Given the description of an element on the screen output the (x, y) to click on. 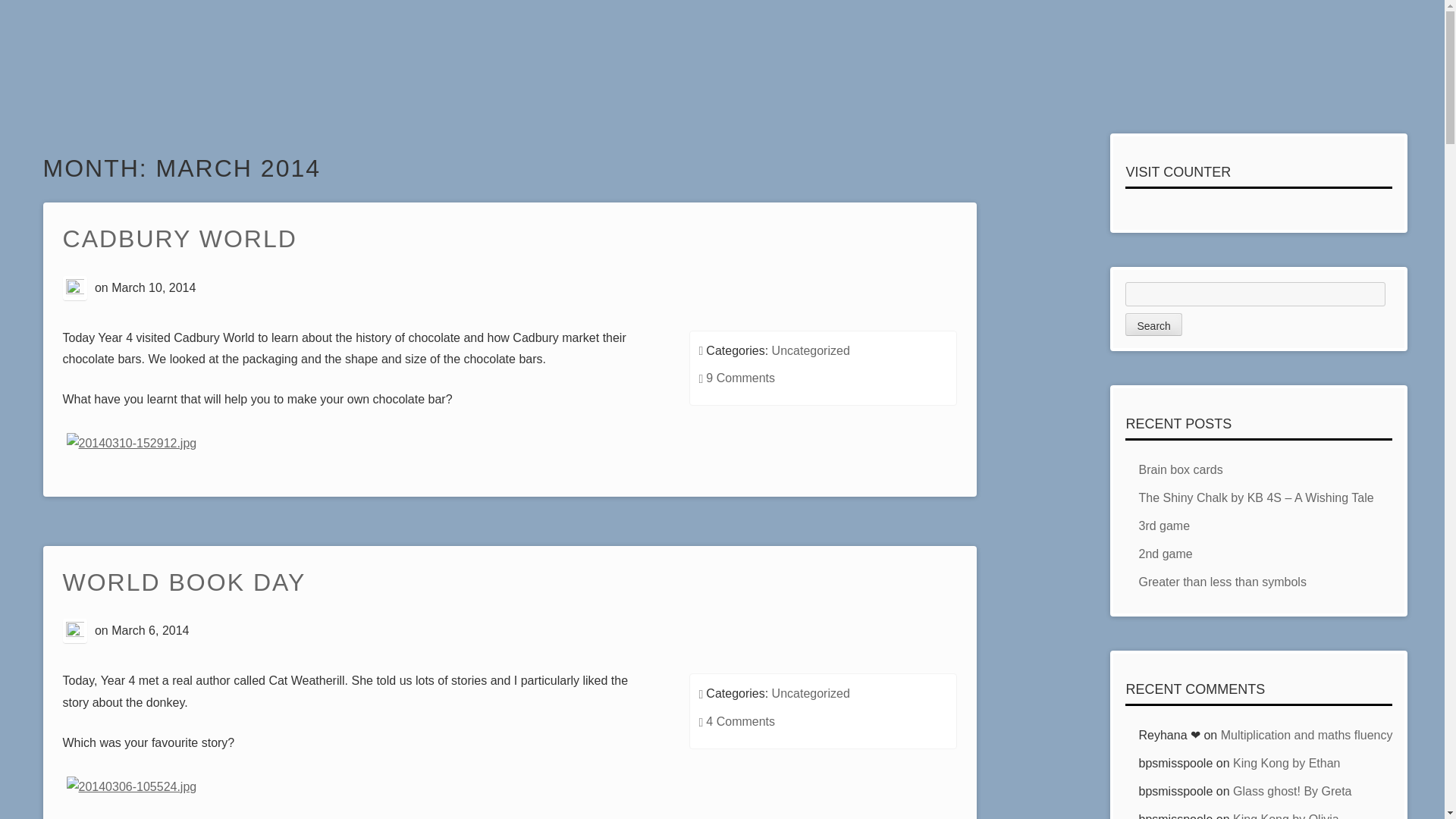
Greater than less than symbols (1222, 581)
Brain box cards (1180, 469)
Multiplication and maths fluency (1307, 735)
Uncategorized (810, 693)
Uncategorized (810, 350)
Glass ghost! By Greta (1292, 790)
Search (1152, 323)
4 Comments (740, 721)
King Kong by Ethan (1286, 762)
CADBURY WORLD (179, 240)
9 Comments (740, 377)
WORLD BOOK DAY (183, 583)
Search (1152, 323)
Search (1152, 323)
3rd game (1163, 525)
